Given the description of an element on the screen output the (x, y) to click on. 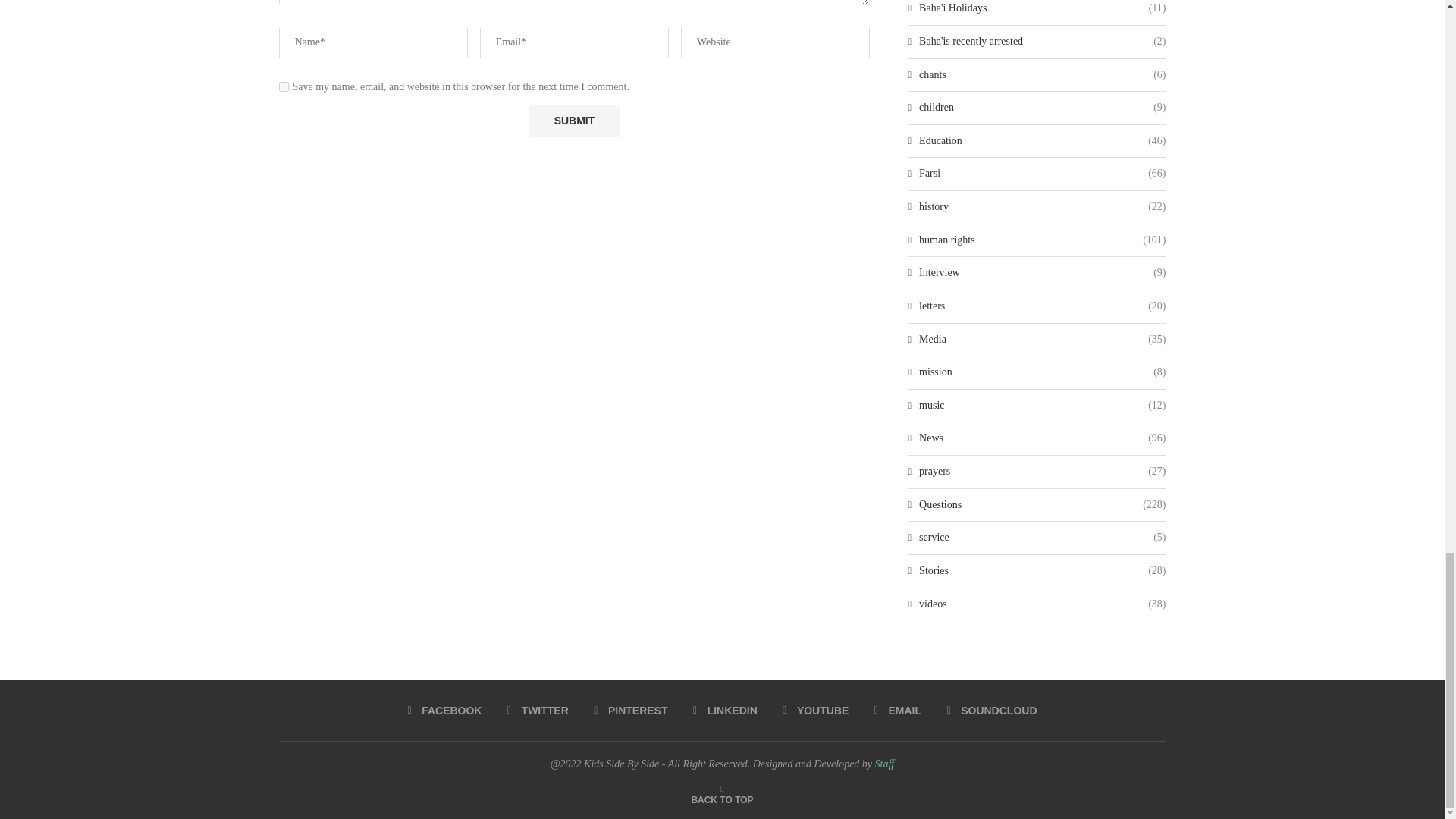
yes (283, 86)
Submit (574, 120)
